Given the description of an element on the screen output the (x, y) to click on. 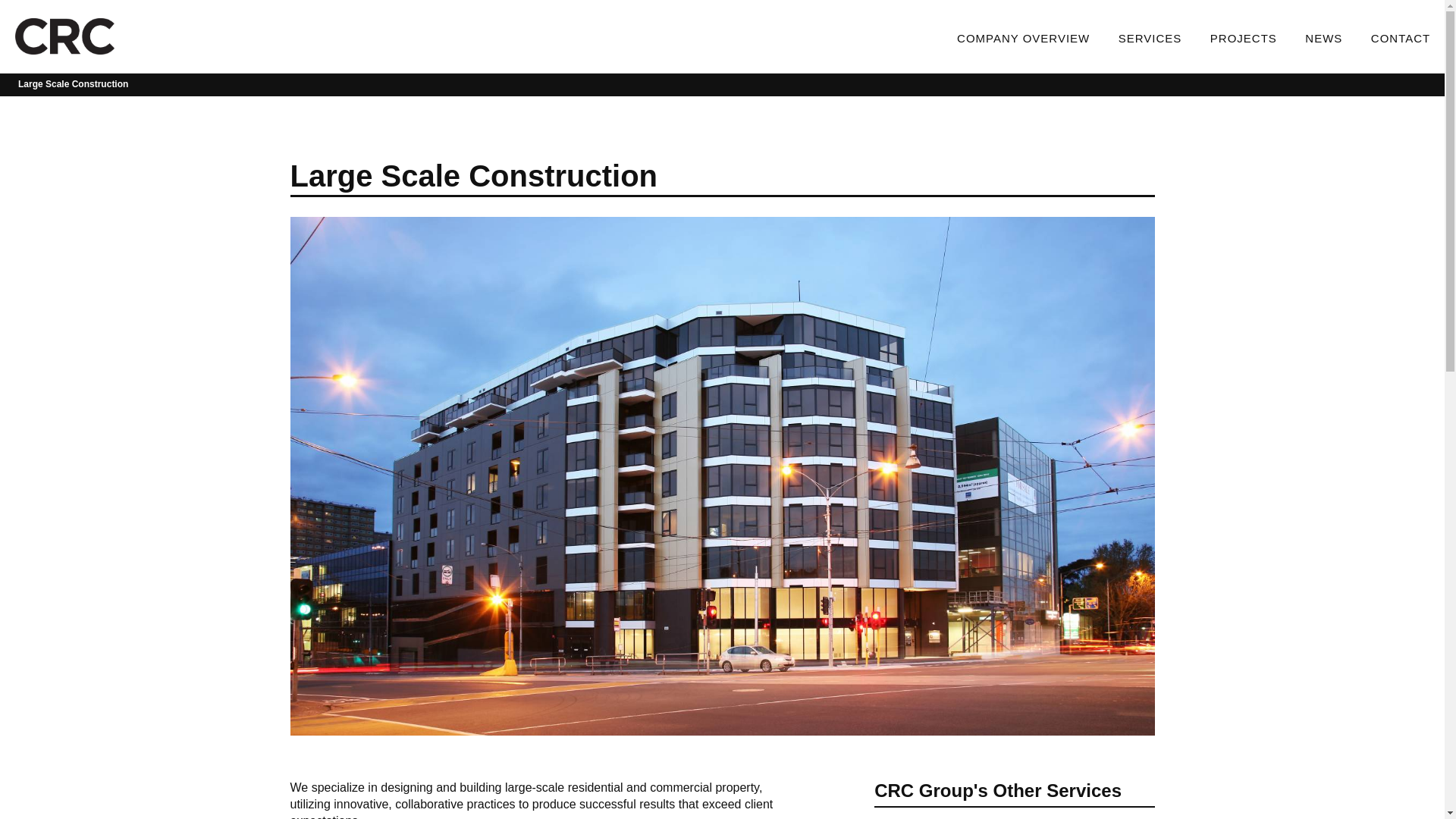
PROJECTS Element type: text (1243, 36)
Large Scale Construction Element type: text (73, 83)
NEWS Element type: text (1324, 36)
COMPANY OVERVIEW Element type: text (1023, 36)
SERVICES Element type: text (1149, 36)
CONTACT Element type: text (1400, 36)
